Given the description of an element on the screen output the (x, y) to click on. 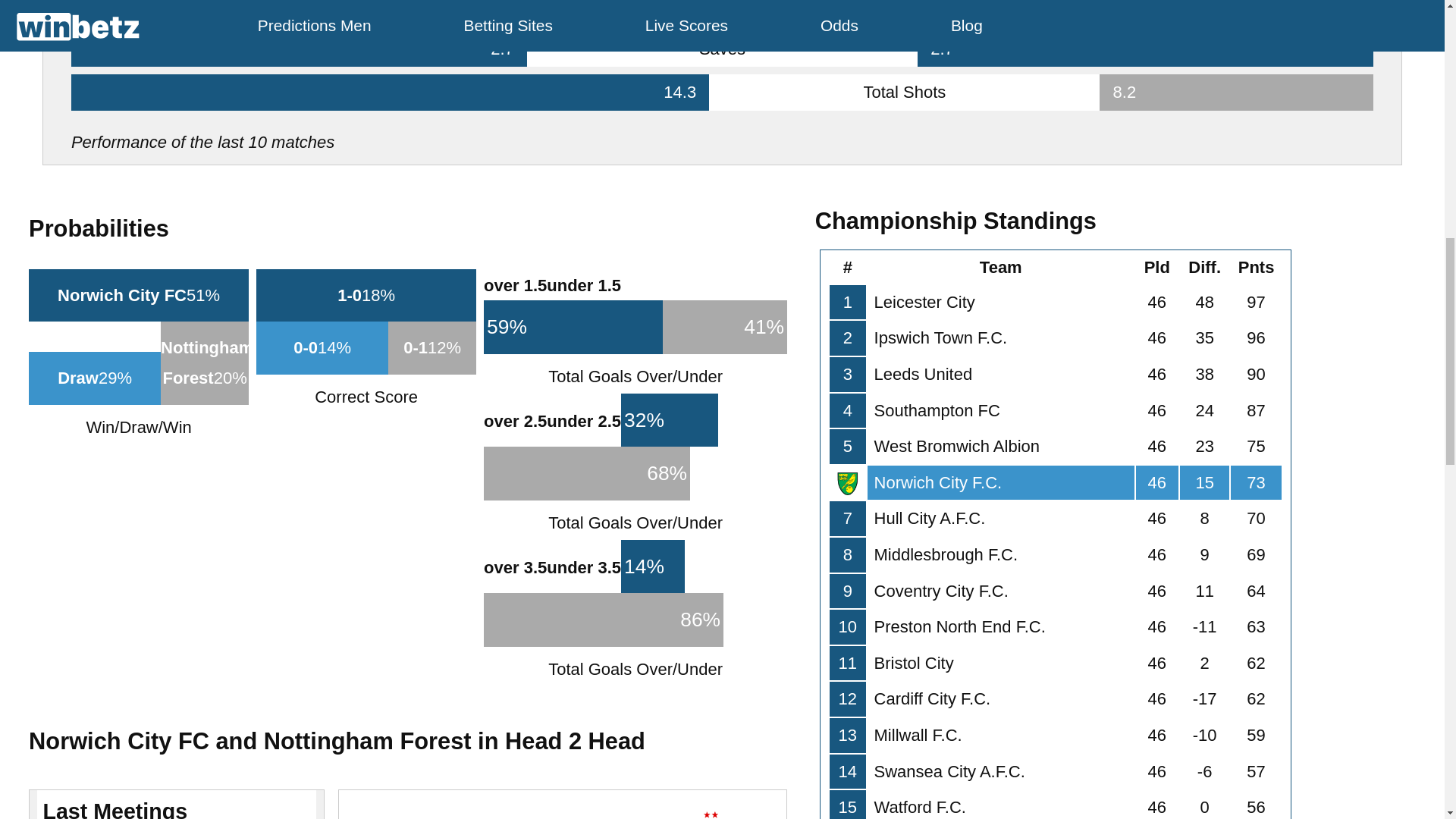
Norwich City F.C. Logo (847, 483)
